Given the description of an element on the screen output the (x, y) to click on. 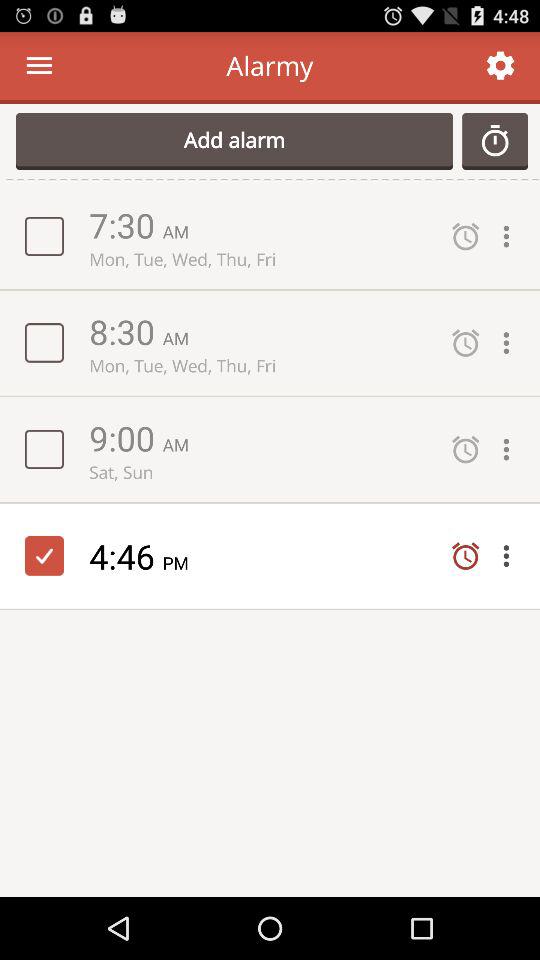
click on the watch (495, 141)
